Given the description of an element on the screen output the (x, y) to click on. 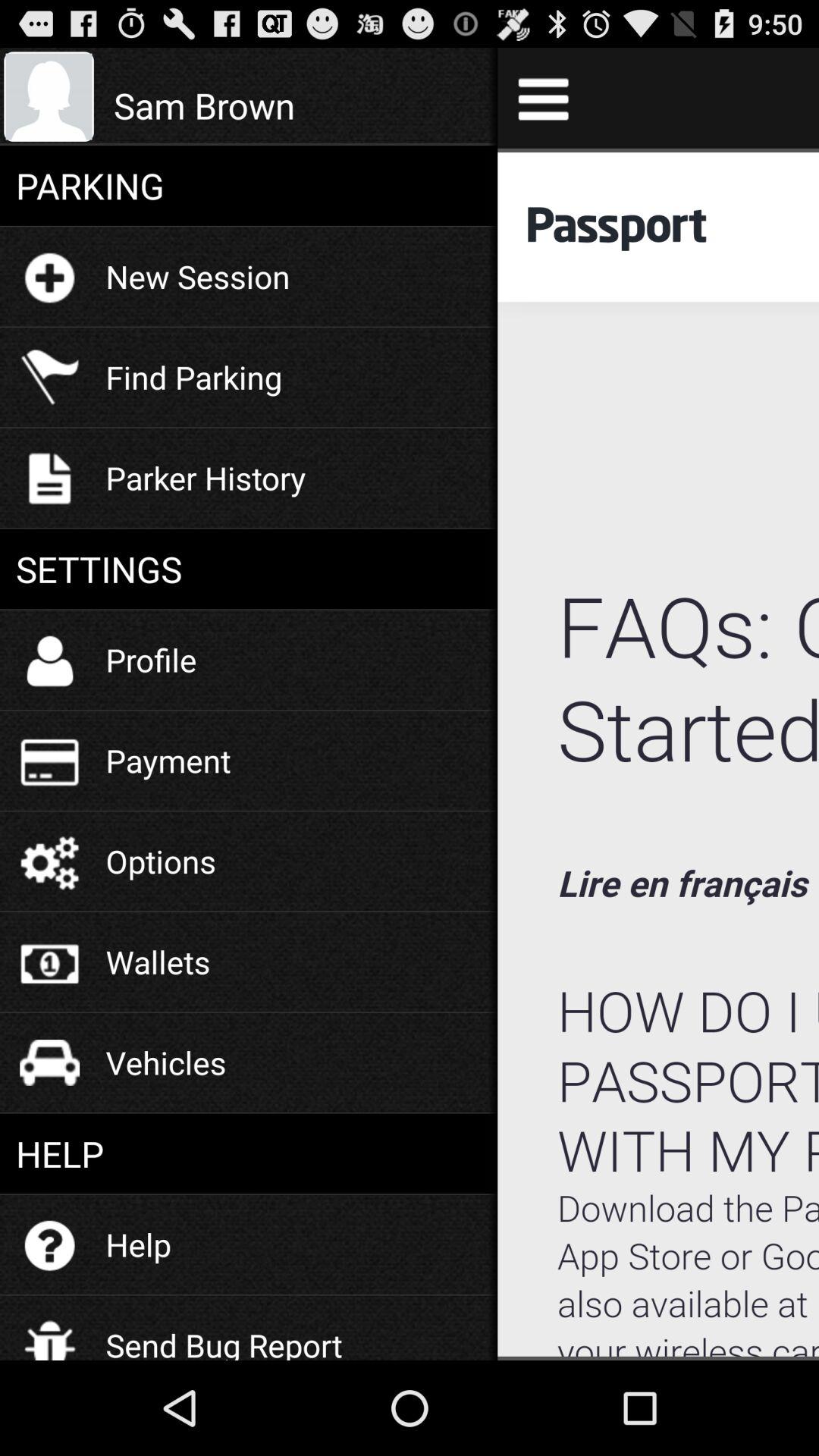
turn off the options (160, 860)
